Given the description of an element on the screen output the (x, y) to click on. 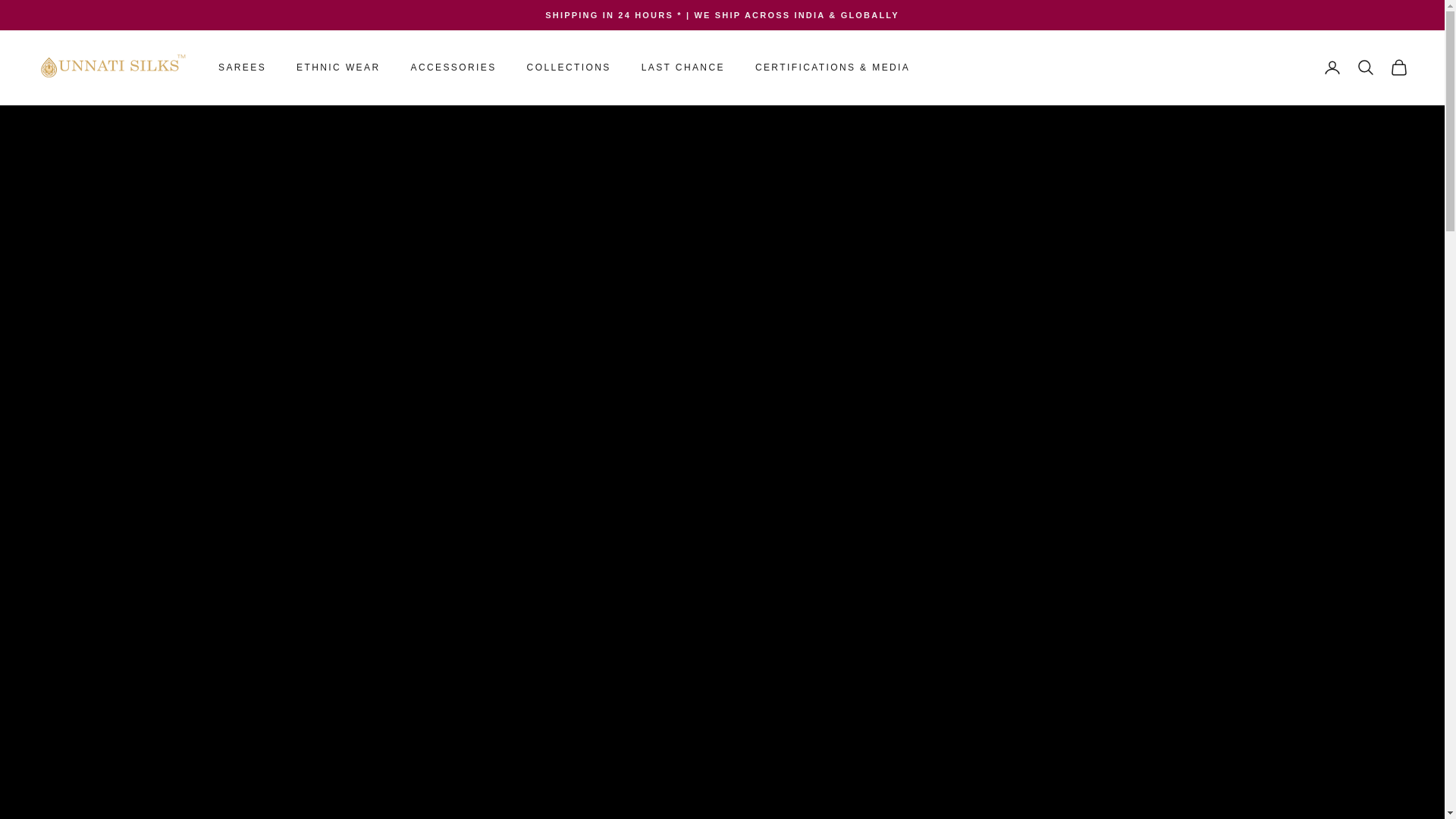
Unnatisilks (111, 67)
